Given the description of an element on the screen output the (x, y) to click on. 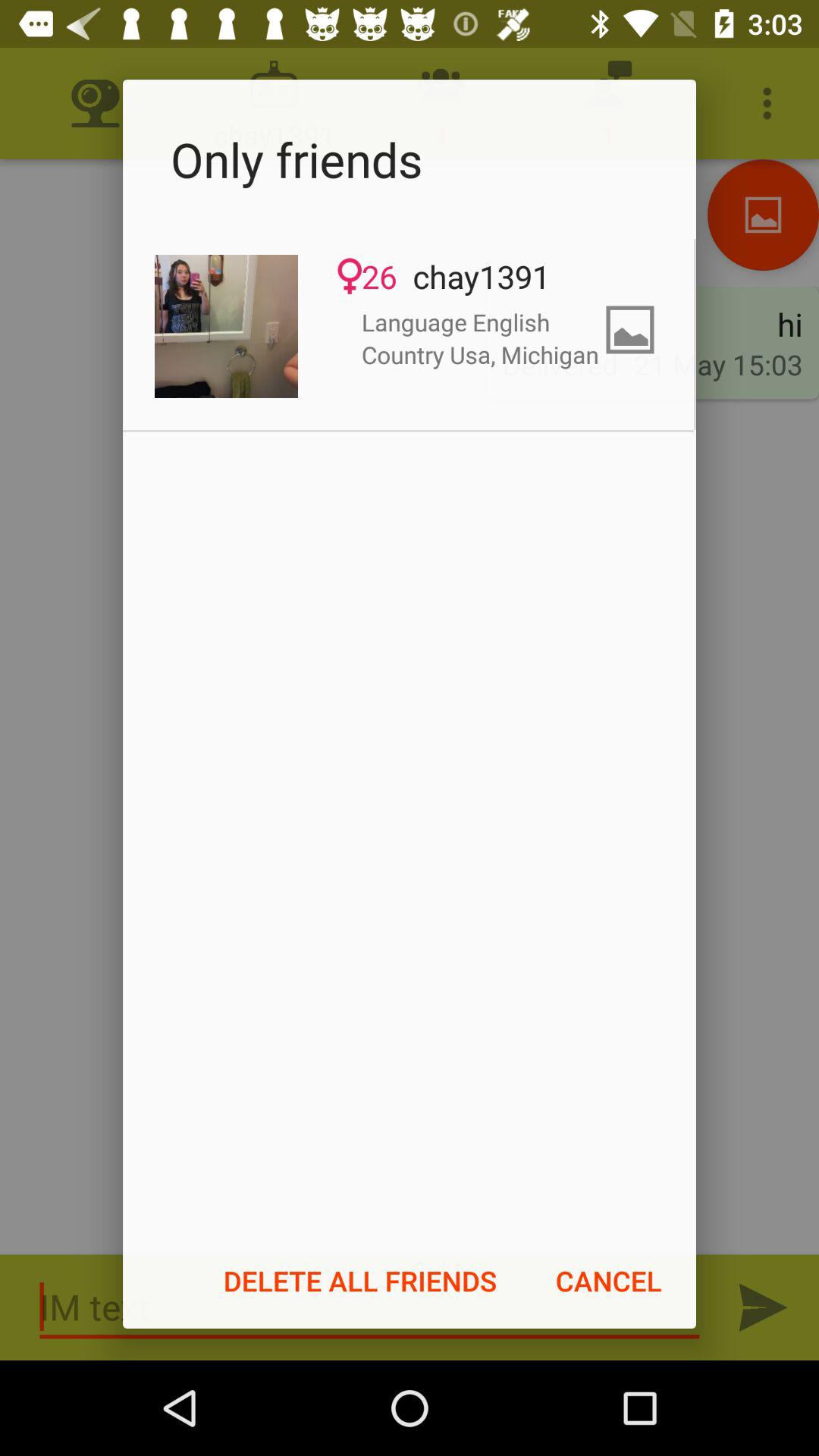
launch item below country usa, michigan icon (608, 1280)
